Given the description of an element on the screen output the (x, y) to click on. 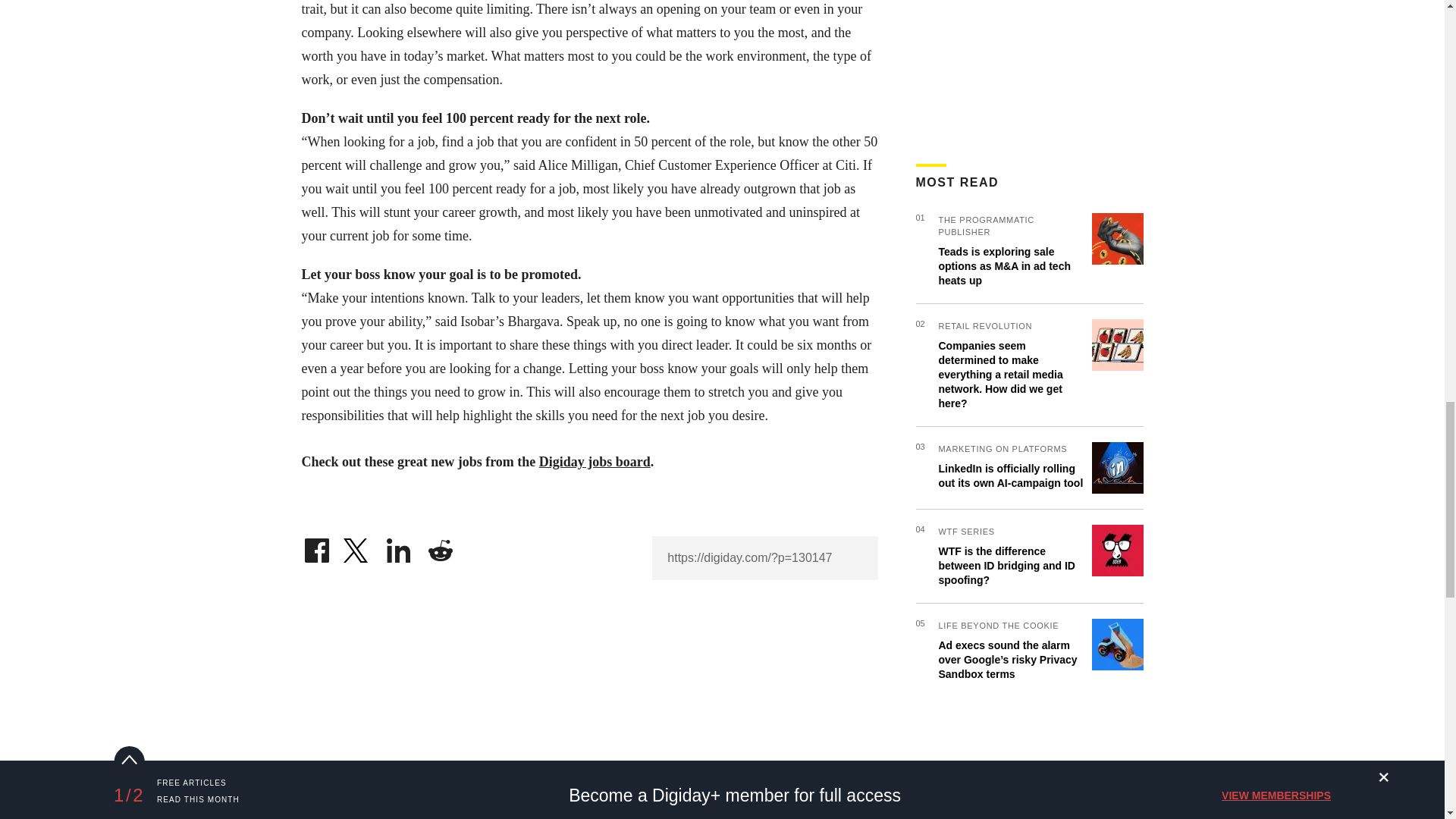
Share on Reddit (440, 546)
Share on Twitter (357, 546)
Share on Facebook (316, 546)
Share on LinkedIn (398, 546)
